Given the description of an element on the screen output the (x, y) to click on. 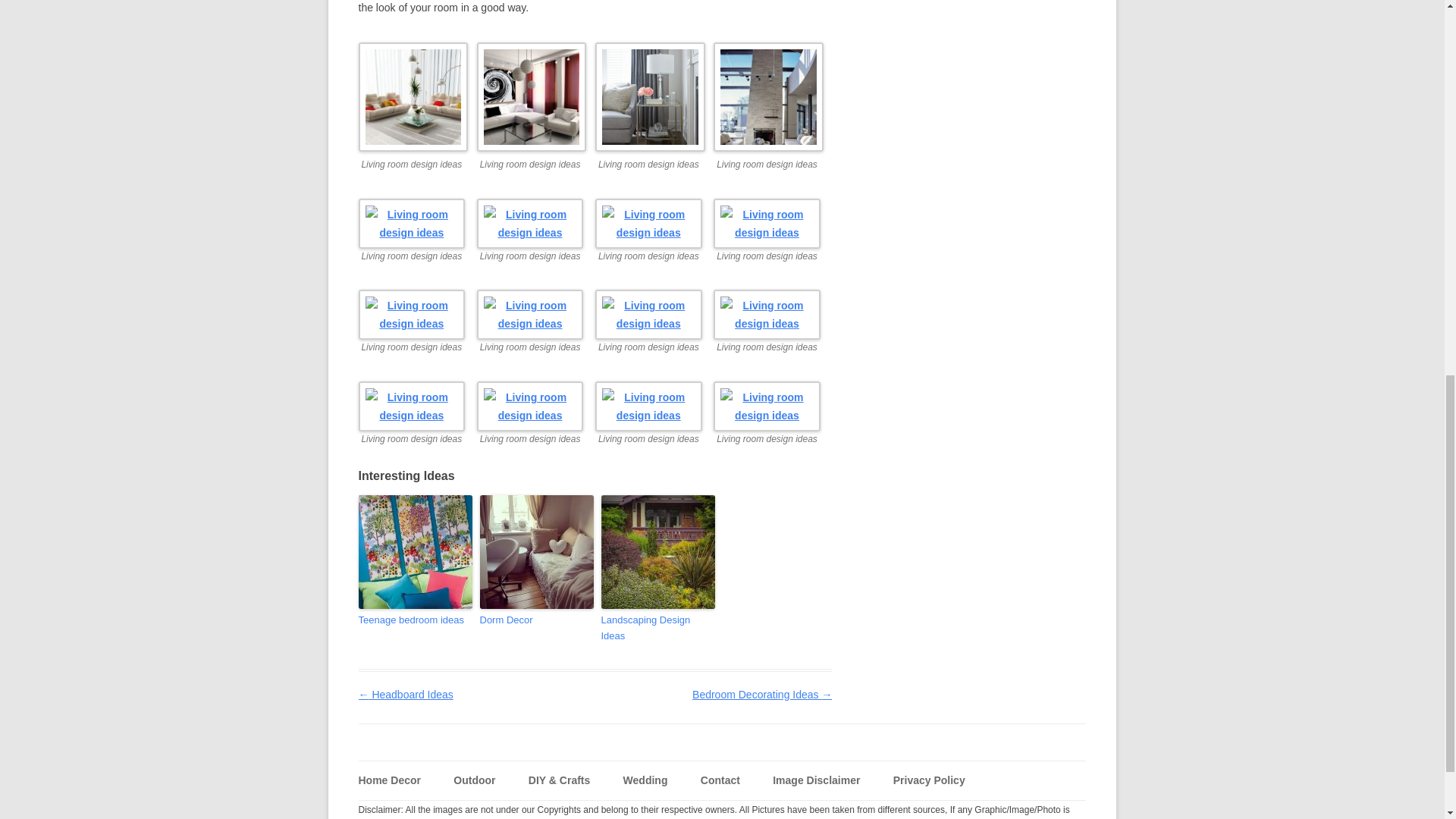
Teenage bedroom ideas (414, 620)
Skip to content (751, 769)
Dorm Decor (535, 620)
Landscaping Design Ideas (656, 628)
